Given the description of an element on the screen output the (x, y) to click on. 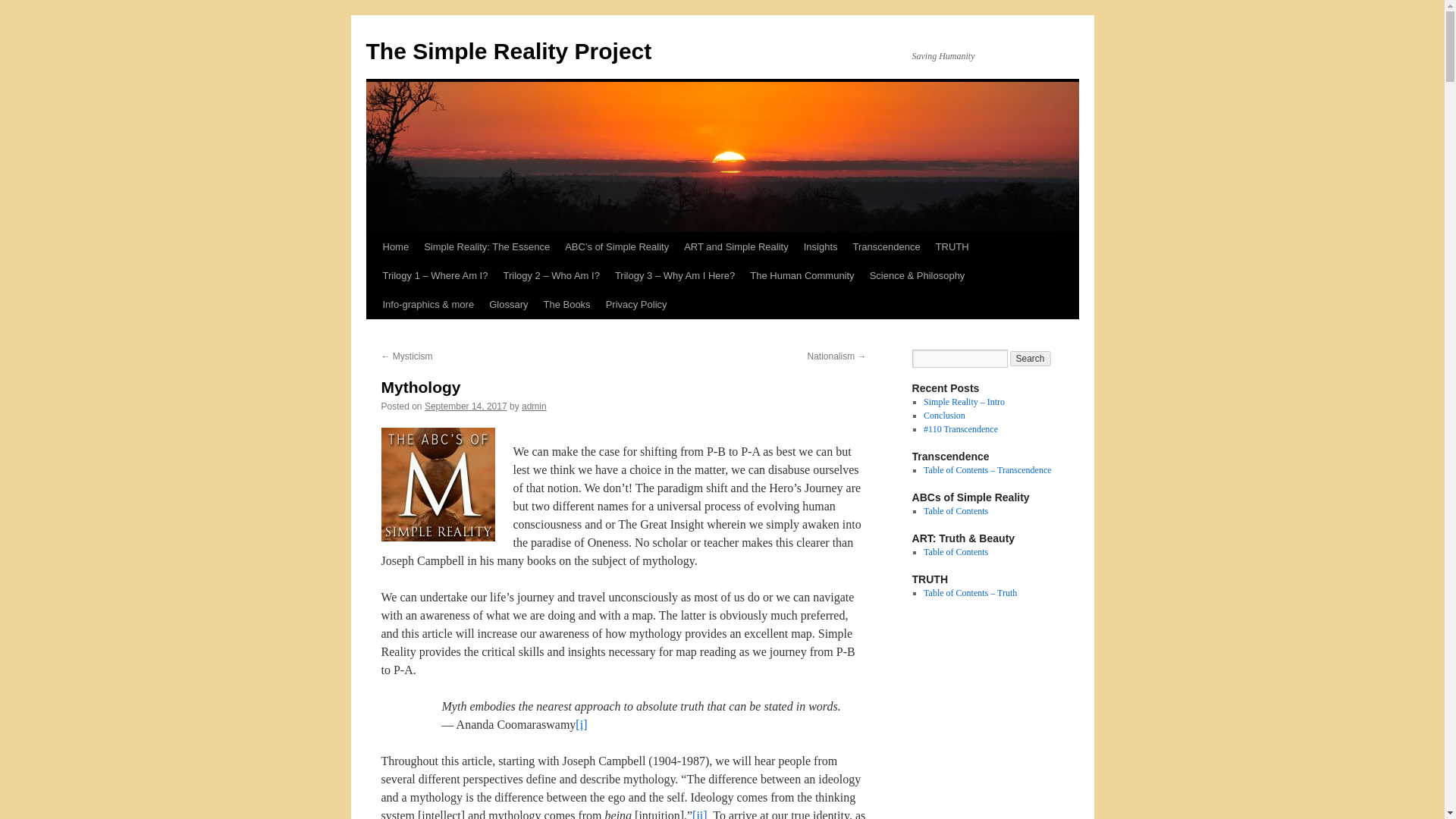
Home (395, 246)
View all posts by admin (534, 406)
Simple Reality: The Essence (486, 246)
The Simple Reality Project (507, 50)
Search (1030, 358)
10:00 am (465, 406)
ART and Simple Reality (736, 246)
